Given the description of an element on the screen output the (x, y) to click on. 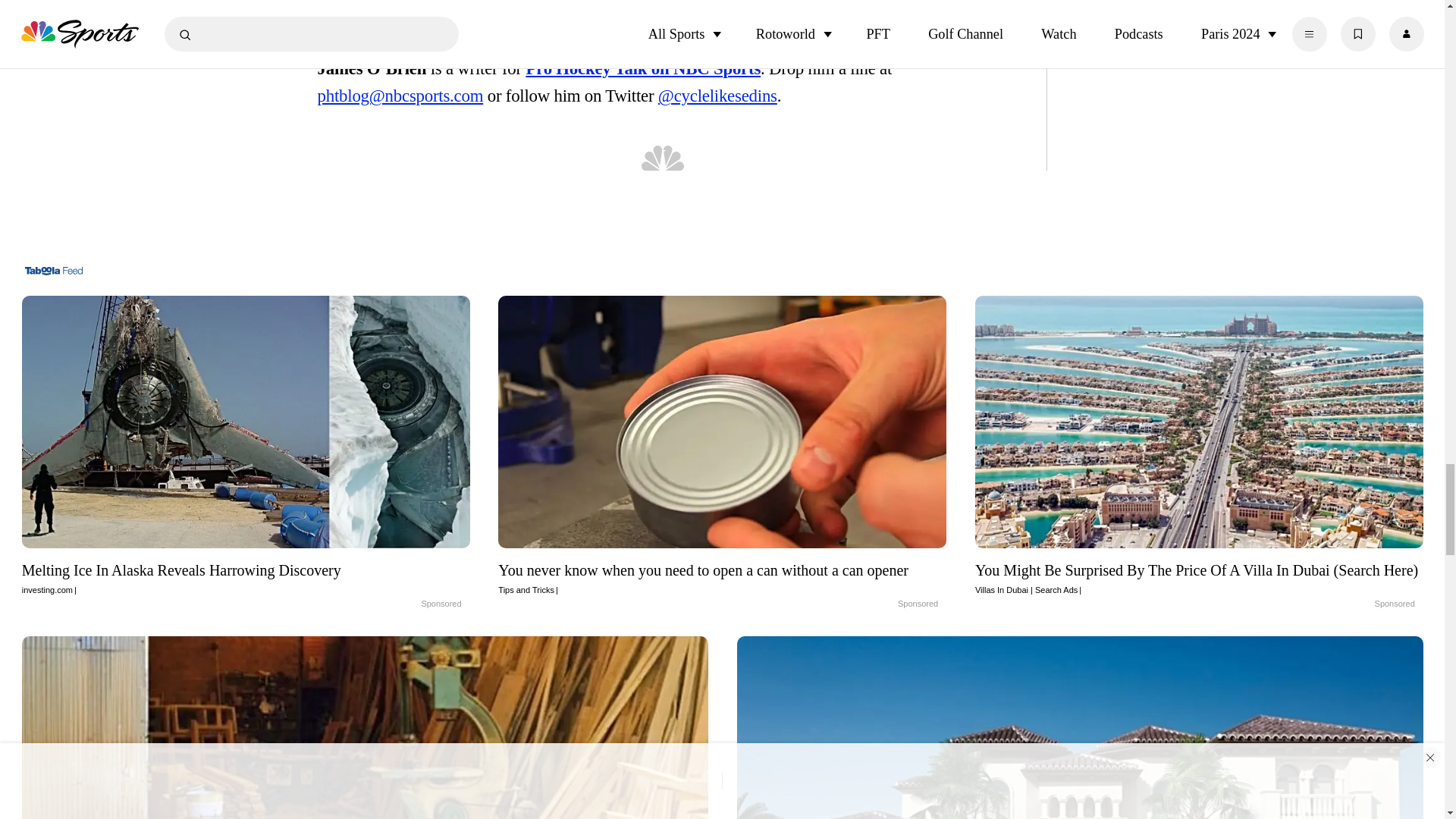
Melting Ice In Alaska Reveals Harrowing Discovery (245, 578)
Melting Ice In Alaska Reveals Harrowing Discovery (404, 604)
Melting Ice In Alaska Reveals Harrowing Discovery (245, 421)
